Given the description of an element on the screen output the (x, y) to click on. 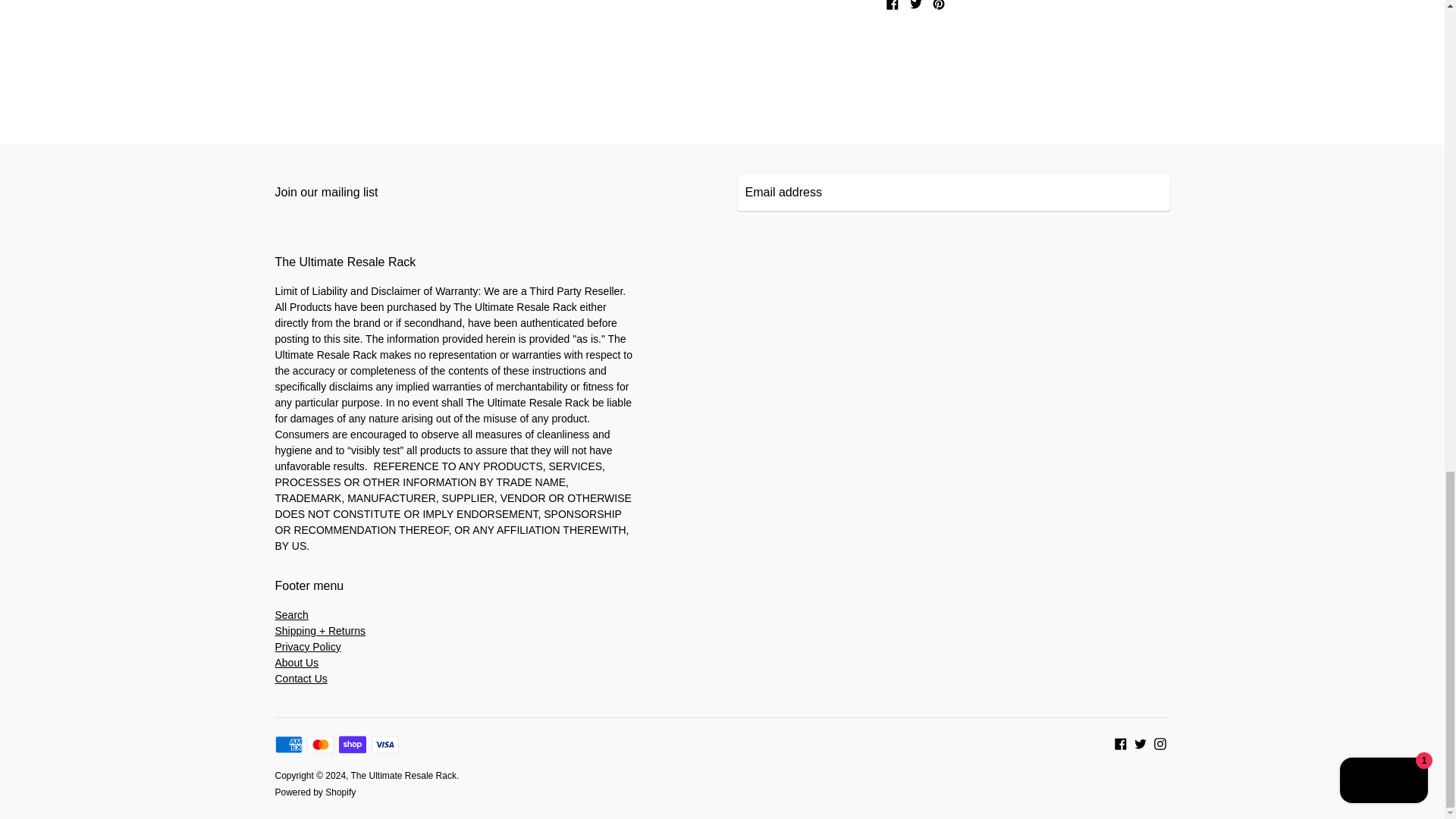
Visa (384, 744)
The Ultimate Resale Rack on Twitter (1140, 742)
Shop Pay (352, 744)
The Ultimate Resale Rack on Instagram (1160, 742)
American Express (288, 744)
The Ultimate Resale Rack on Facebook (1120, 742)
Mastercard (320, 744)
